Given the description of an element on the screen output the (x, y) to click on. 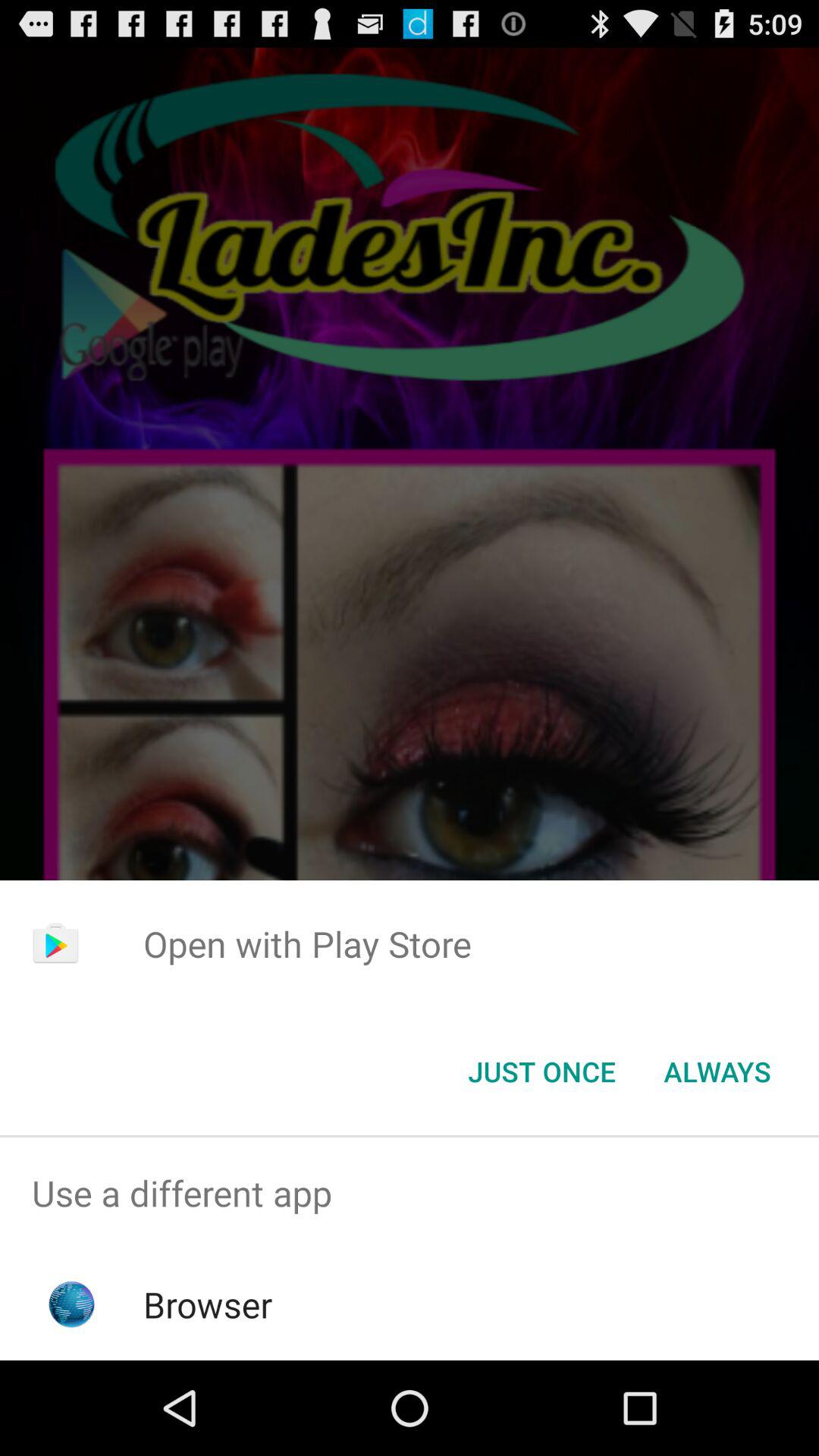
turn on the app below open with play app (541, 1071)
